Given the description of an element on the screen output the (x, y) to click on. 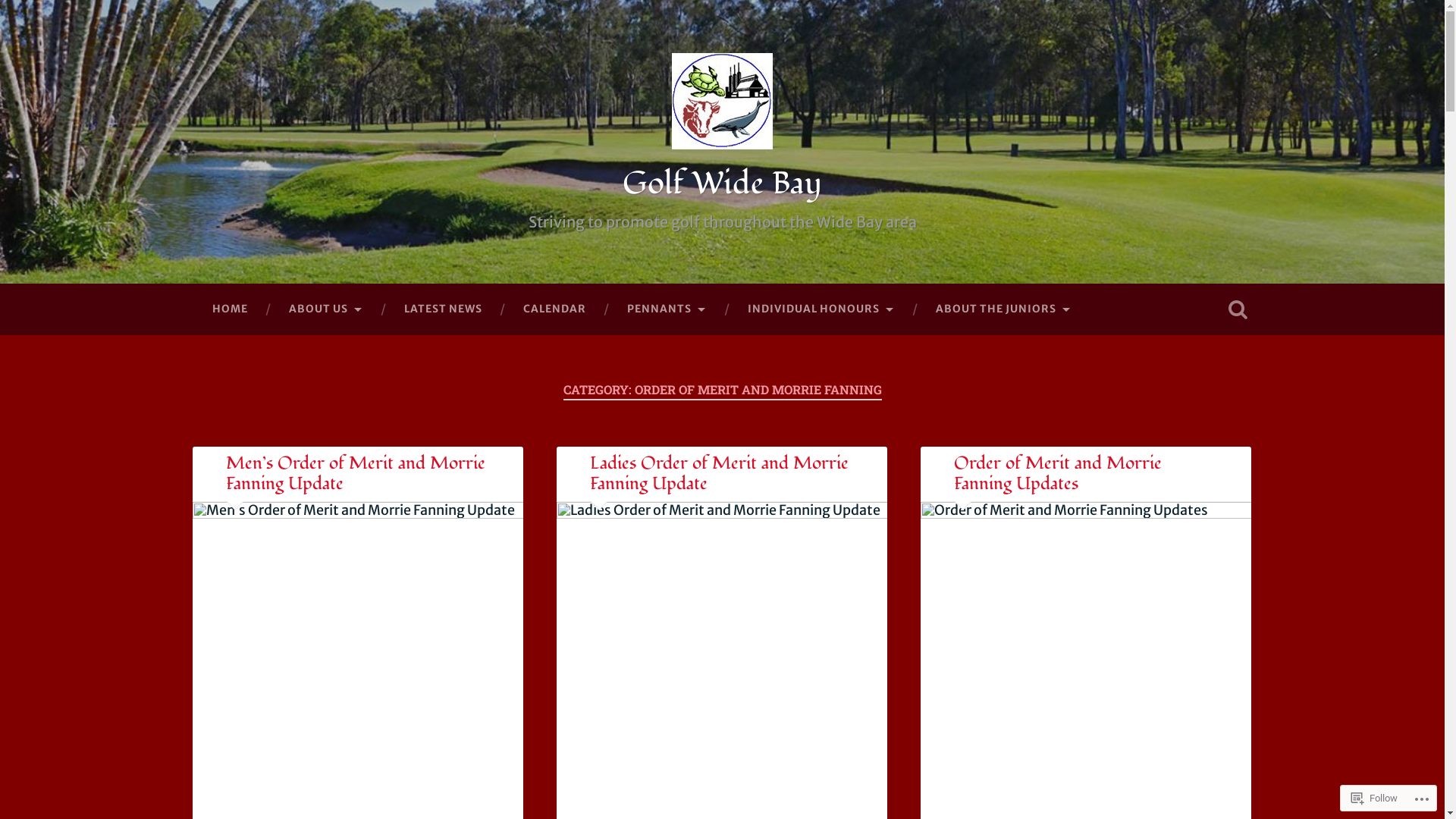
Ladies Order of Merit and Morrie Fanning Update Element type: text (718, 473)
HOME Element type: text (229, 309)
INDIVIDUAL HONOURS Element type: text (820, 309)
Follow Element type: text (1374, 797)
LATEST NEWS Element type: text (442, 309)
Open Search Element type: text (1237, 309)
ABOUT US Element type: text (325, 309)
ABOUT THE JUNIORS Element type: text (1002, 309)
PENNANTS Element type: text (666, 309)
Order of Merit and Morrie Fanning Updates Element type: text (1057, 473)
Golf Wide Bay Element type: text (722, 183)
CALENDAR Element type: text (553, 309)
